Given the description of an element on the screen output the (x, y) to click on. 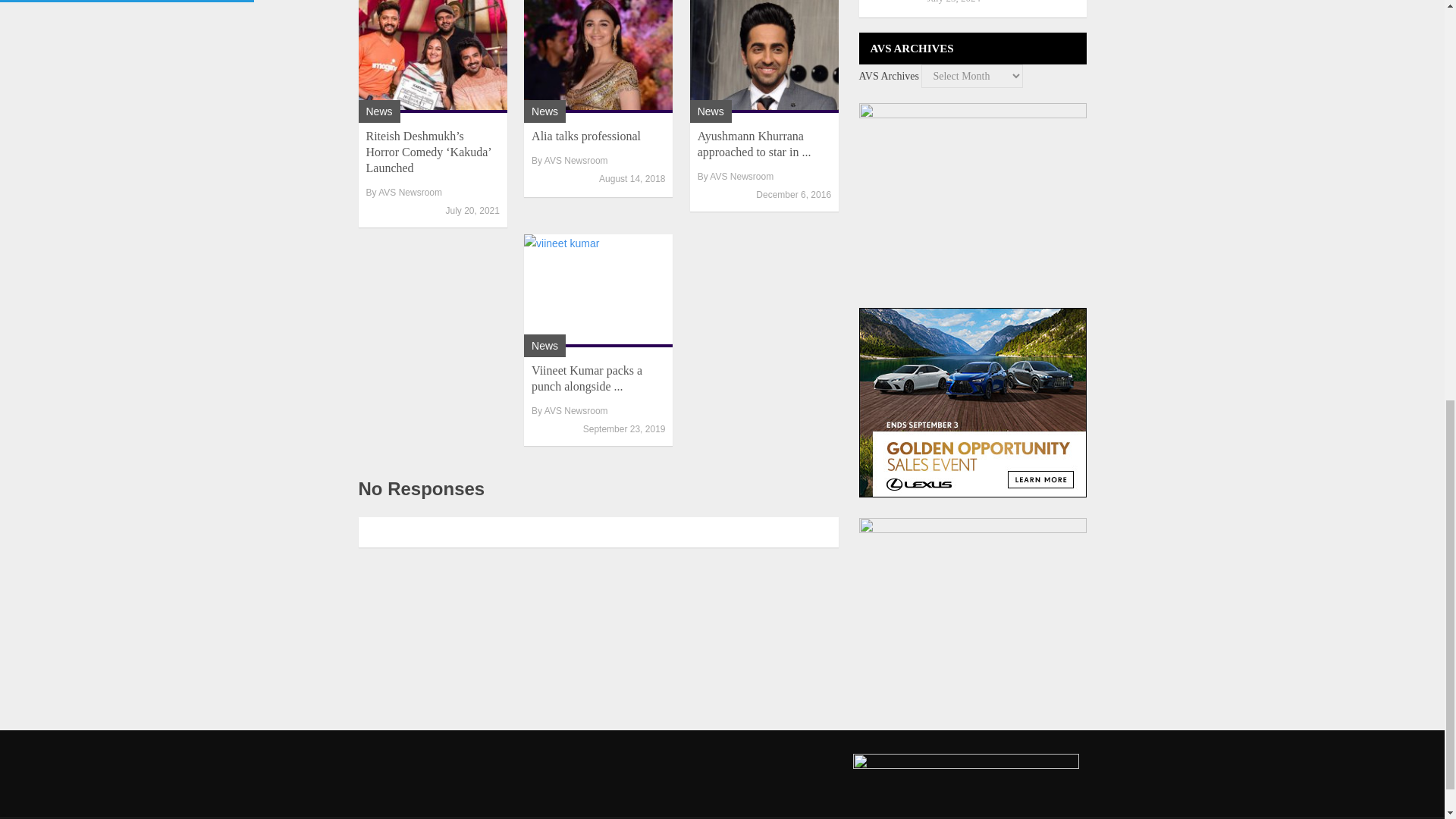
News (544, 111)
News (378, 111)
Alia talks professional (585, 135)
Posts by AVS Newsroom (410, 192)
Alia talks professional (585, 135)
Posts by AVS Newsroom (576, 160)
Alia talks professional (598, 56)
Ayushmann Khurrana approached to star in sequel to Hungama (753, 143)
View all posts in News (378, 111)
AVS Newsroom (576, 410)
